Given the description of an element on the screen output the (x, y) to click on. 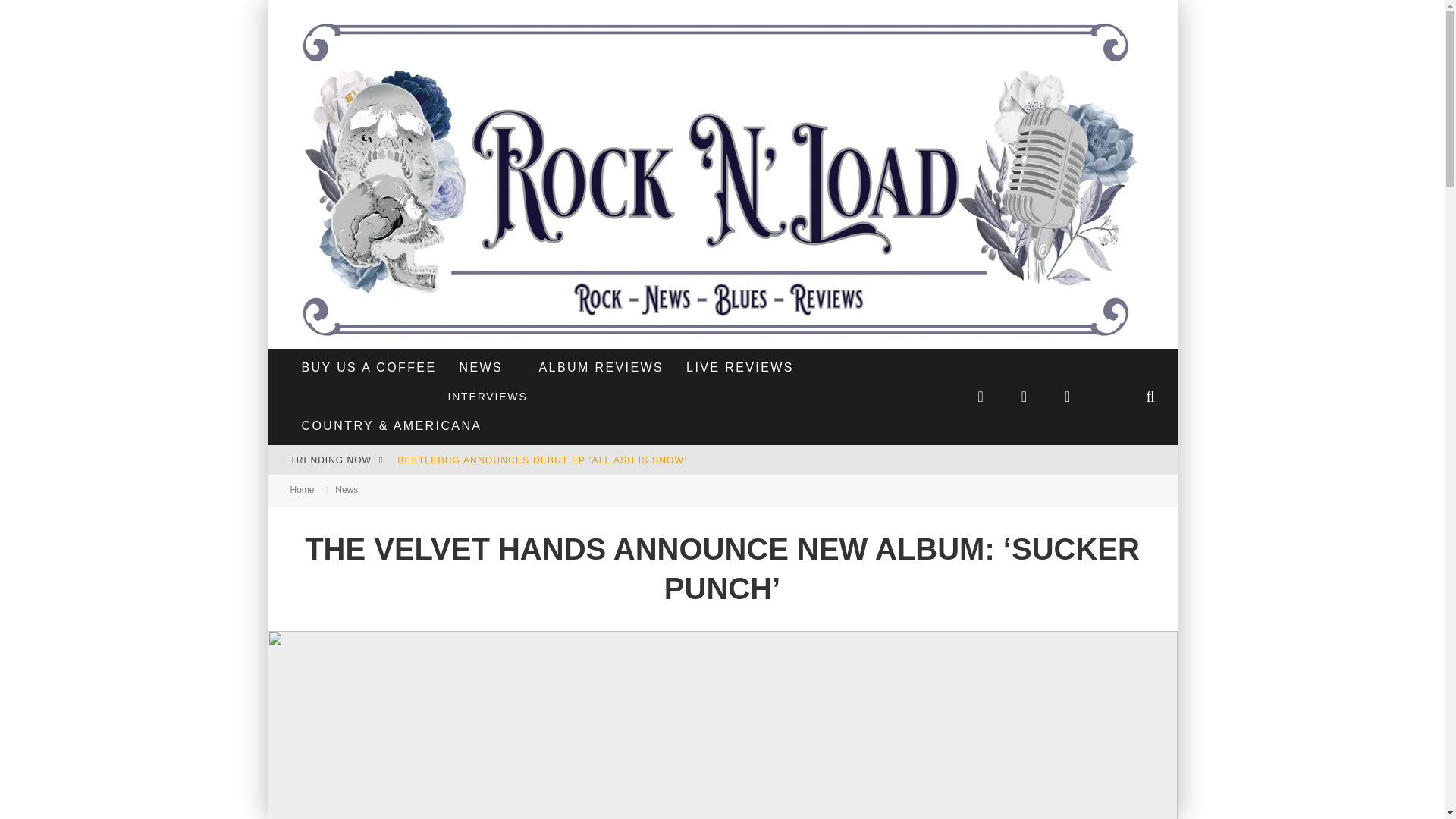
LIVE REVIEWS (740, 367)
Home (301, 489)
ALBUM REVIEWS (601, 367)
INTERVIEWS (486, 396)
News (346, 489)
NEWS (479, 367)
BUY US A COFFEE (367, 367)
